Given the description of an element on the screen output the (x, y) to click on. 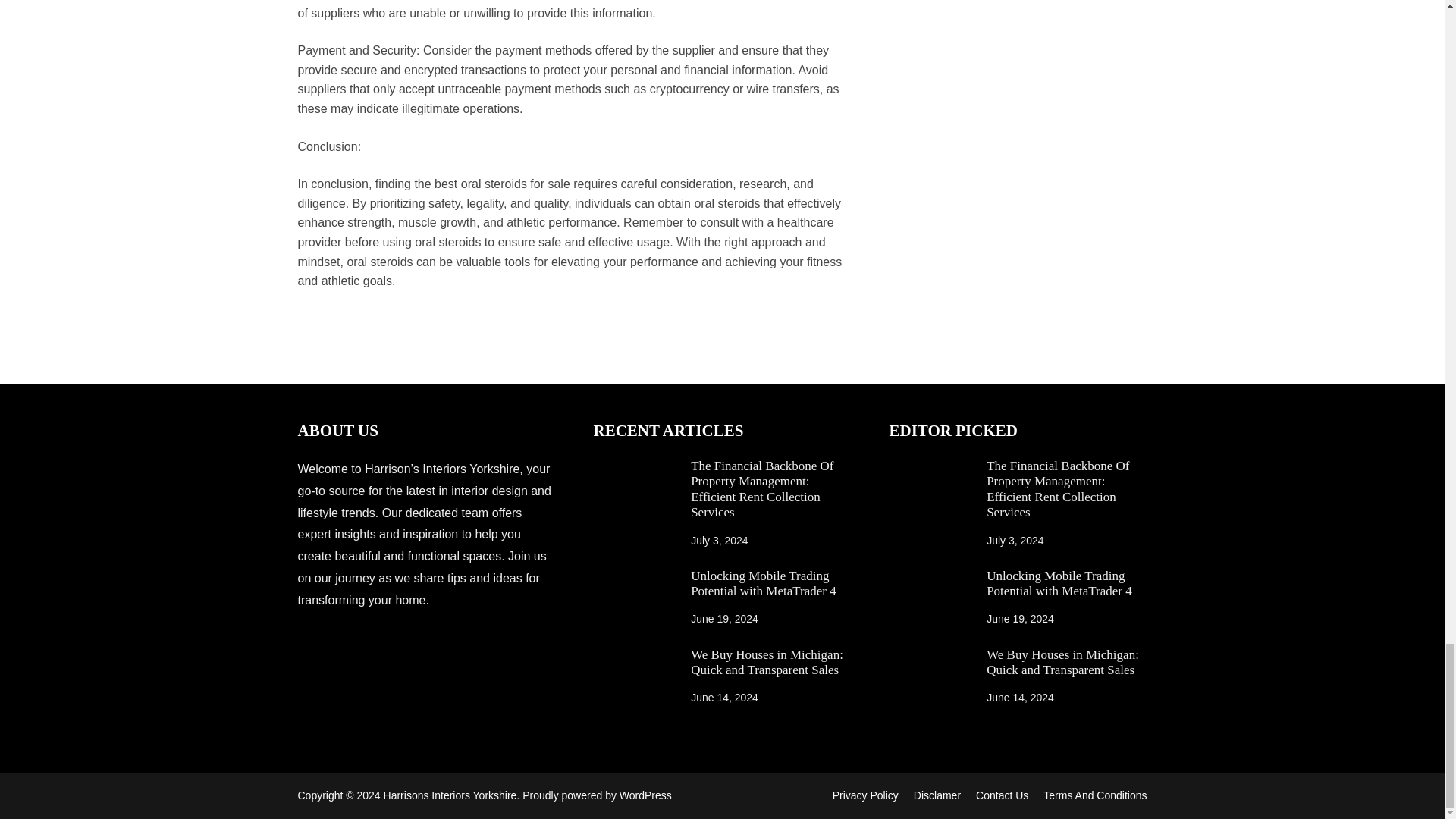
July 3, 2024 (719, 540)
Harrisons Interiors Yorkshire (450, 795)
